Given the description of an element on the screen output the (x, y) to click on. 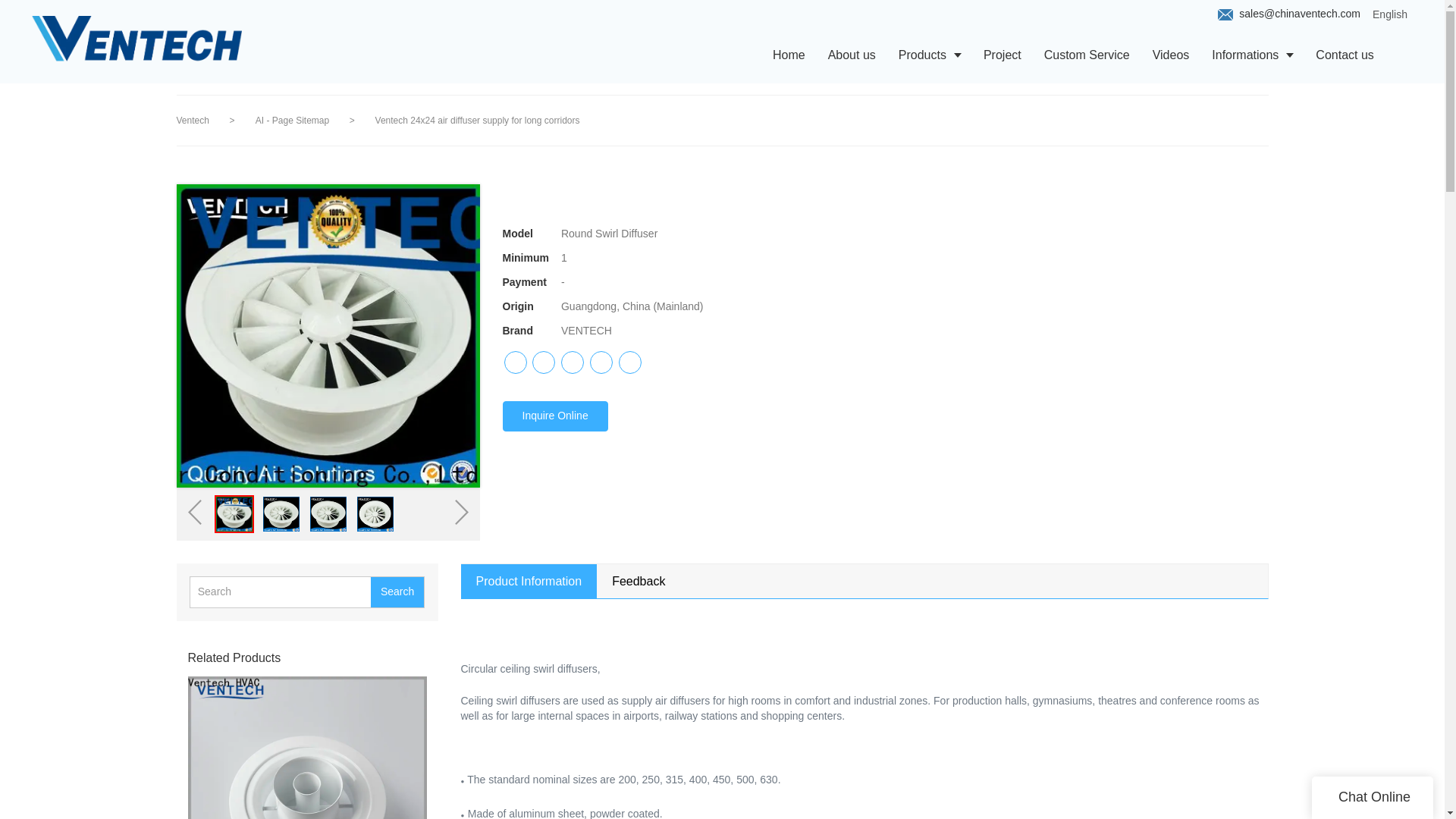
Videos (1171, 55)
Custom Service (1086, 55)
Contact us (1344, 55)
About us (851, 55)
Informations (1251, 55)
Products (929, 55)
Project (1002, 55)
Home (788, 55)
